Given the description of an element on the screen output the (x, y) to click on. 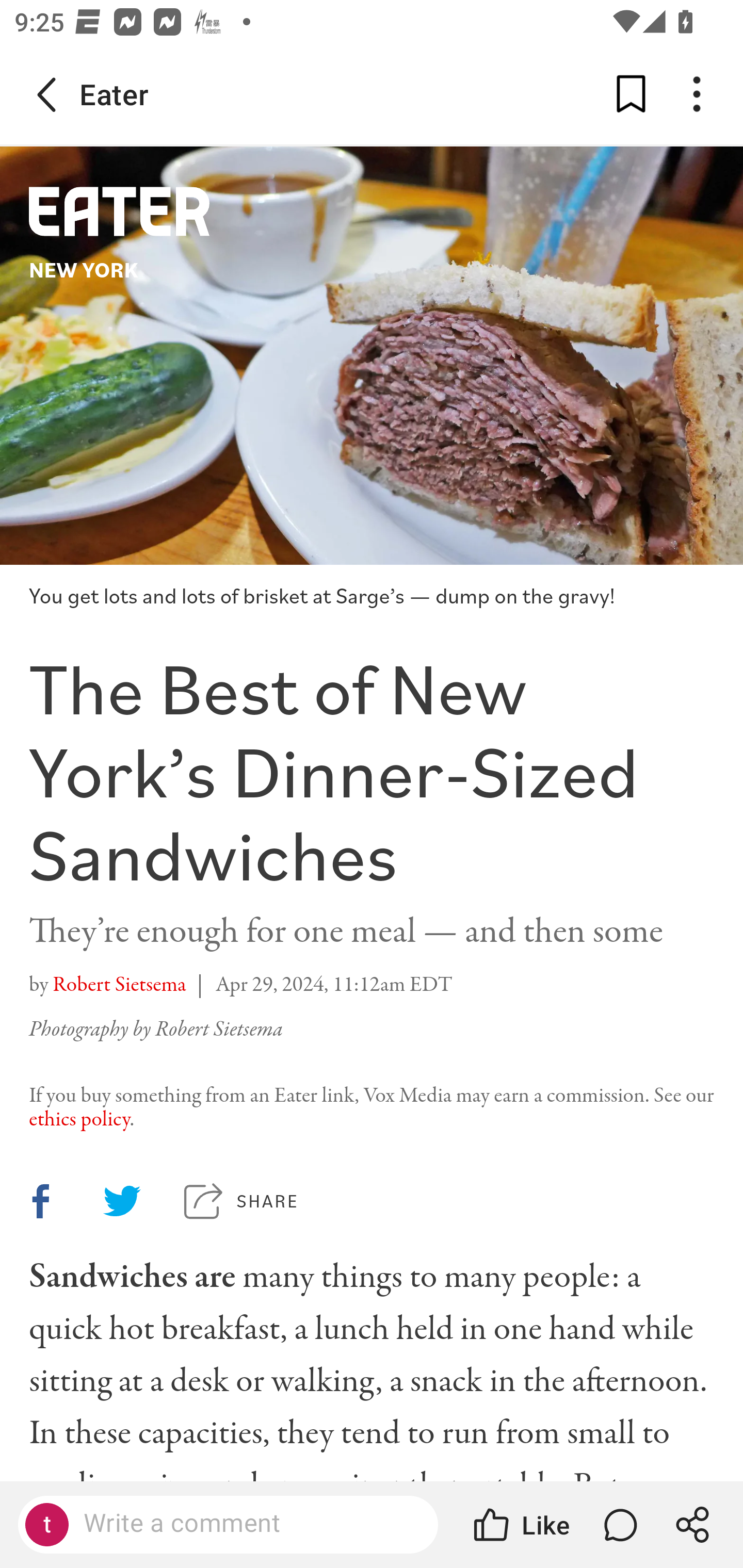
Like (519, 1524)
Write a comment (245, 1523)
